Given the description of an element on the screen output the (x, y) to click on. 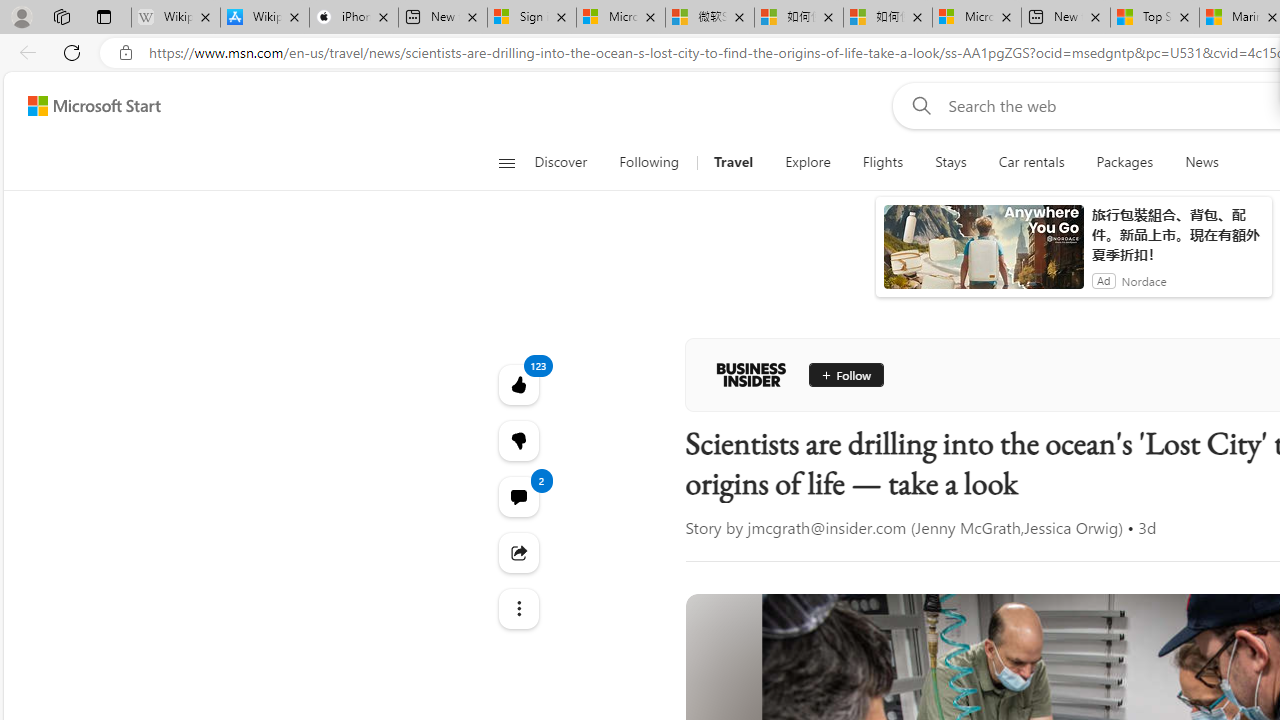
Stays (951, 162)
Explore (808, 162)
Sign in to your Microsoft account (531, 17)
Flights (883, 162)
Packages (1124, 162)
Business Insider (751, 374)
Class: at-item (517, 609)
